Given the description of an element on the screen output the (x, y) to click on. 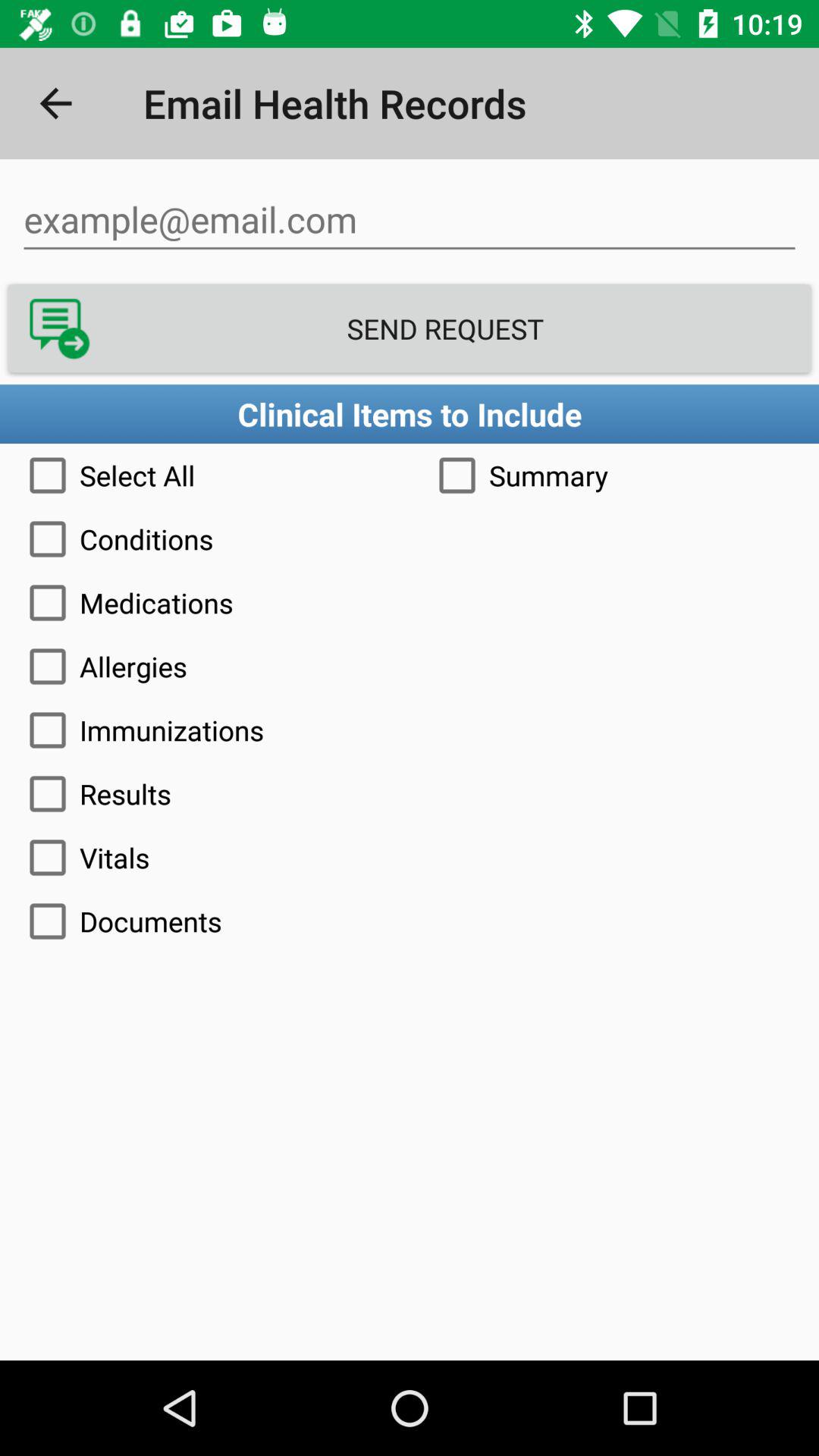
turn on the vitals item (409, 857)
